Given the description of an element on the screen output the (x, y) to click on. 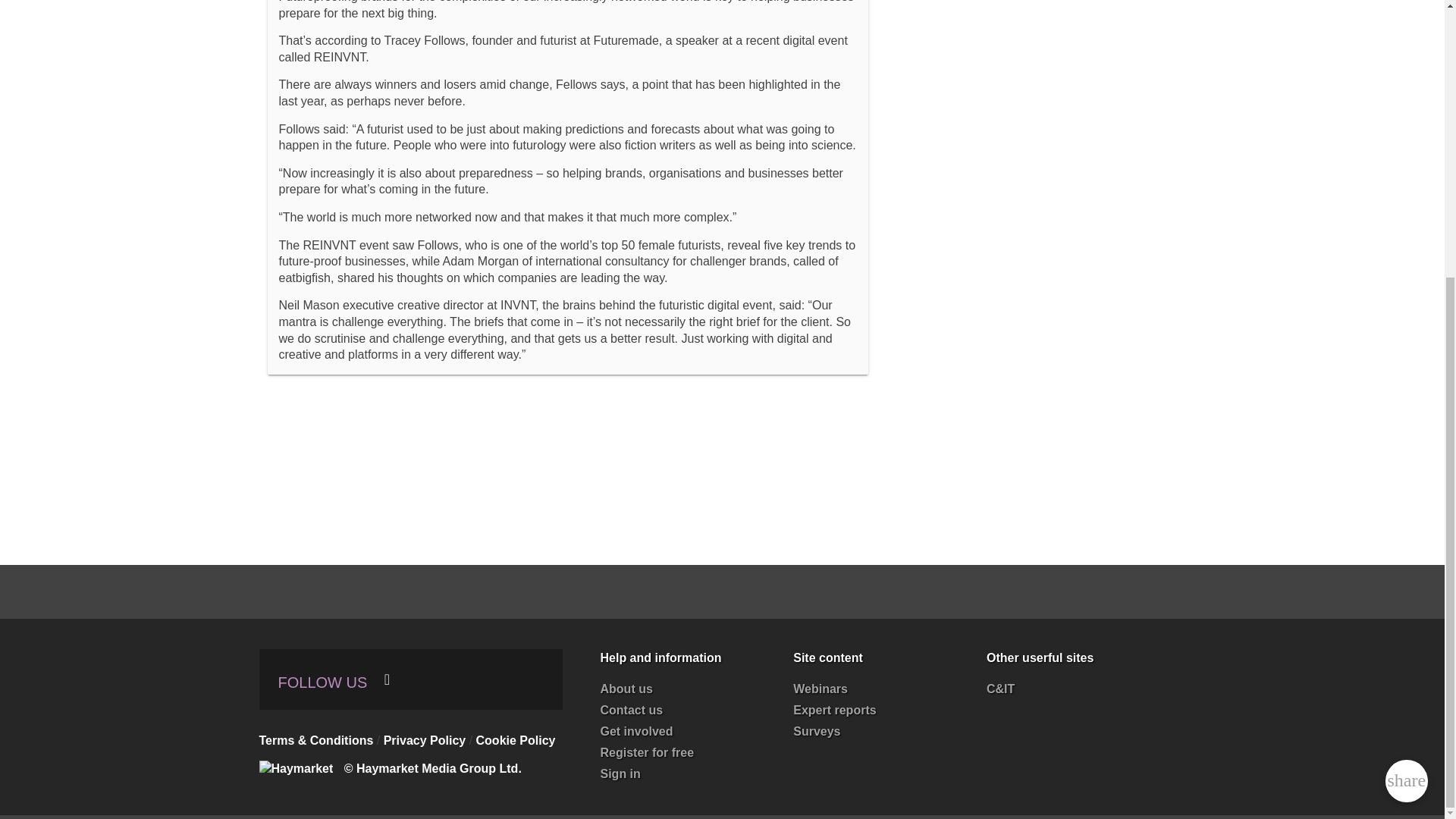
Webinars (820, 688)
Privacy Policy (424, 739)
Expert reports (834, 709)
Haymarket (299, 768)
About us (625, 688)
Sign in (619, 773)
Surveys (816, 730)
Register for free (646, 752)
Cookie Policy (516, 739)
Get involved (635, 730)
